Given the description of an element on the screen output the (x, y) to click on. 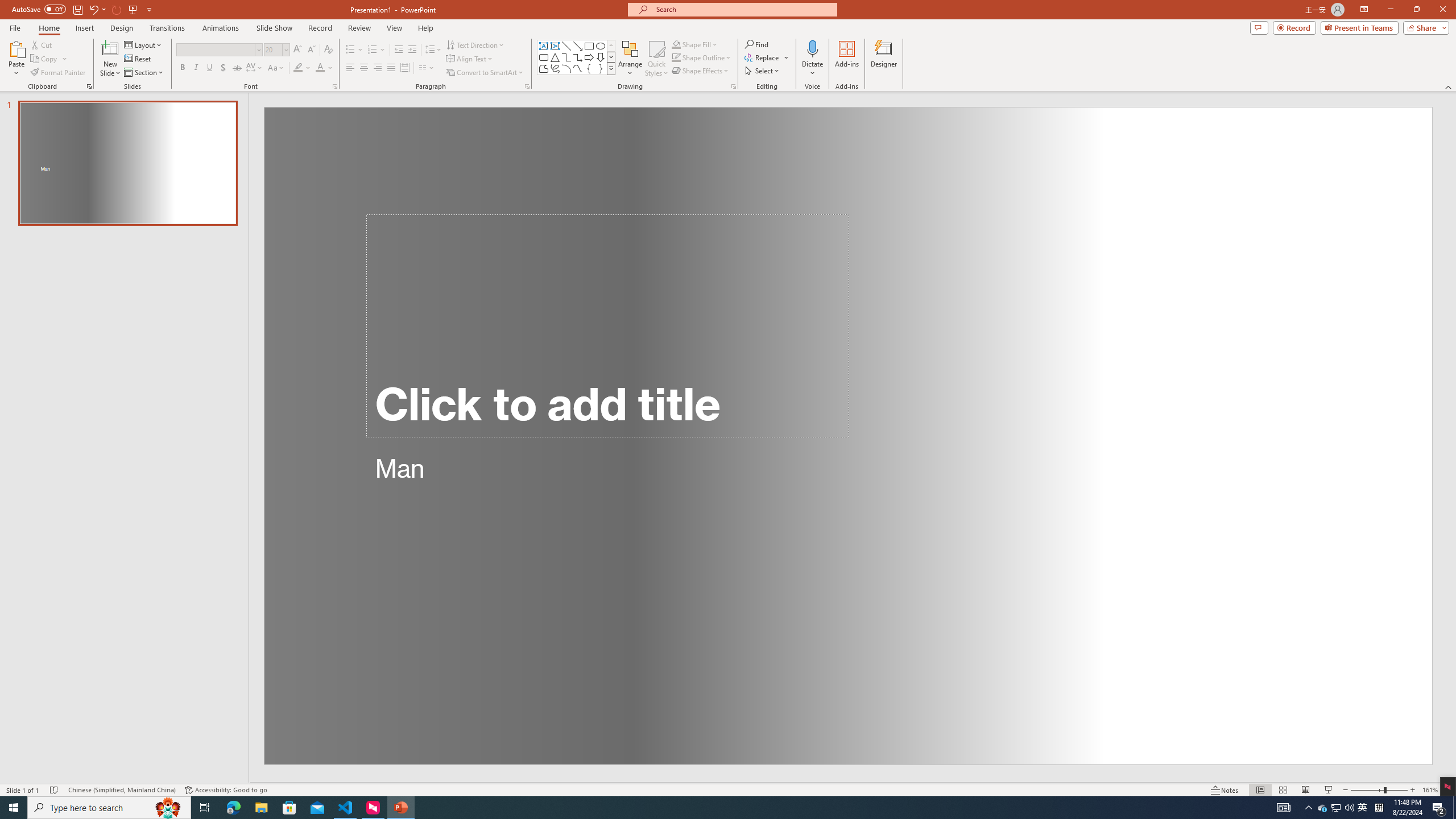
Font (219, 49)
Normal (1260, 790)
Oval (600, 45)
Align Left (349, 67)
Minimize (1390, 9)
Replace... (762, 56)
Font (215, 49)
Arrange (630, 58)
Vertical Text Box (554, 45)
Distributed (404, 67)
Paste (16, 58)
Shapes (611, 68)
Connector: Elbow Arrow (577, 57)
Decrease Font Size (310, 49)
Bullets (349, 49)
